Given the description of an element on the screen output the (x, y) to click on. 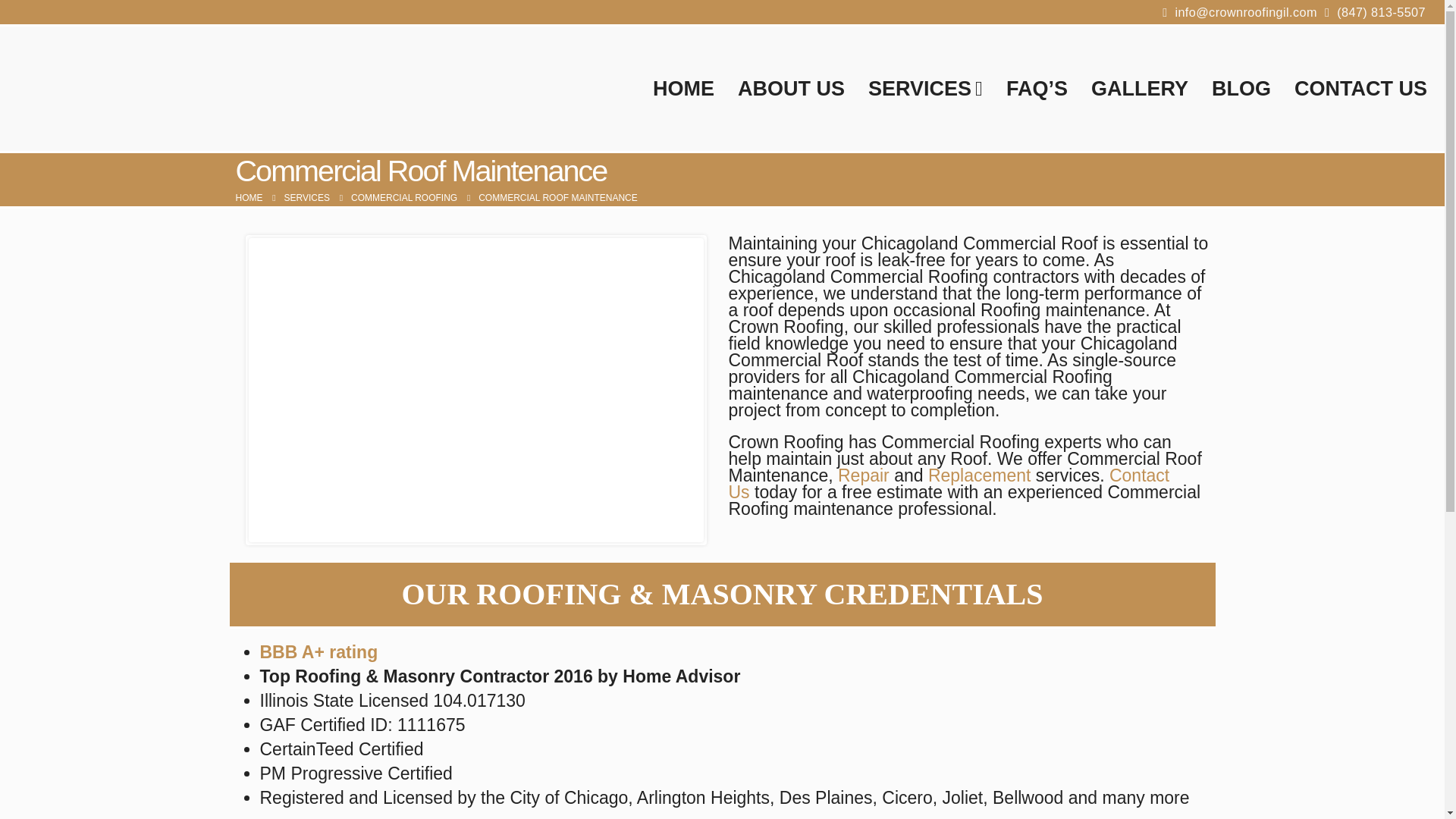
Go to Home Page (248, 197)
HOME (248, 197)
CONTACT US (1360, 87)
SERVICES (306, 197)
COMMERCIAL ROOFING (403, 197)
BLOG (1240, 87)
ABOUT US (791, 87)
HOME (683, 87)
SERVICES (925, 87)
